Given the description of an element on the screen output the (x, y) to click on. 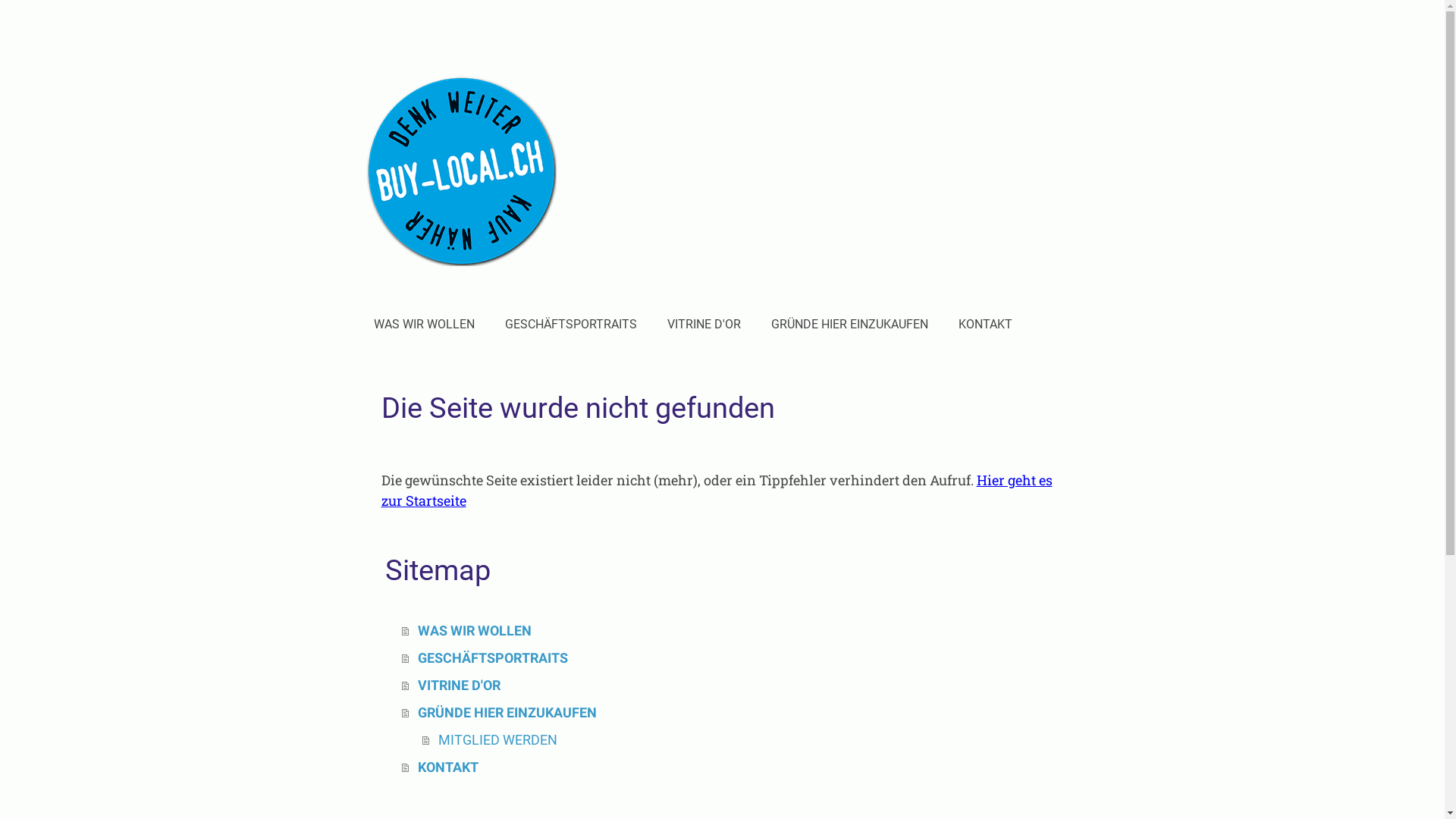
WAS WIR WOLLEN Element type: text (423, 324)
VITRINE D'OR Element type: text (704, 324)
Hier geht es zur Startseite Element type: text (715, 489)
VITRINE D'OR Element type: text (732, 685)
KONTAKT Element type: text (985, 324)
KONTAKT Element type: text (732, 767)
WAS WIR WOLLEN Element type: text (732, 630)
MITGLIED WERDEN Element type: text (742, 739)
